Given the description of an element on the screen output the (x, y) to click on. 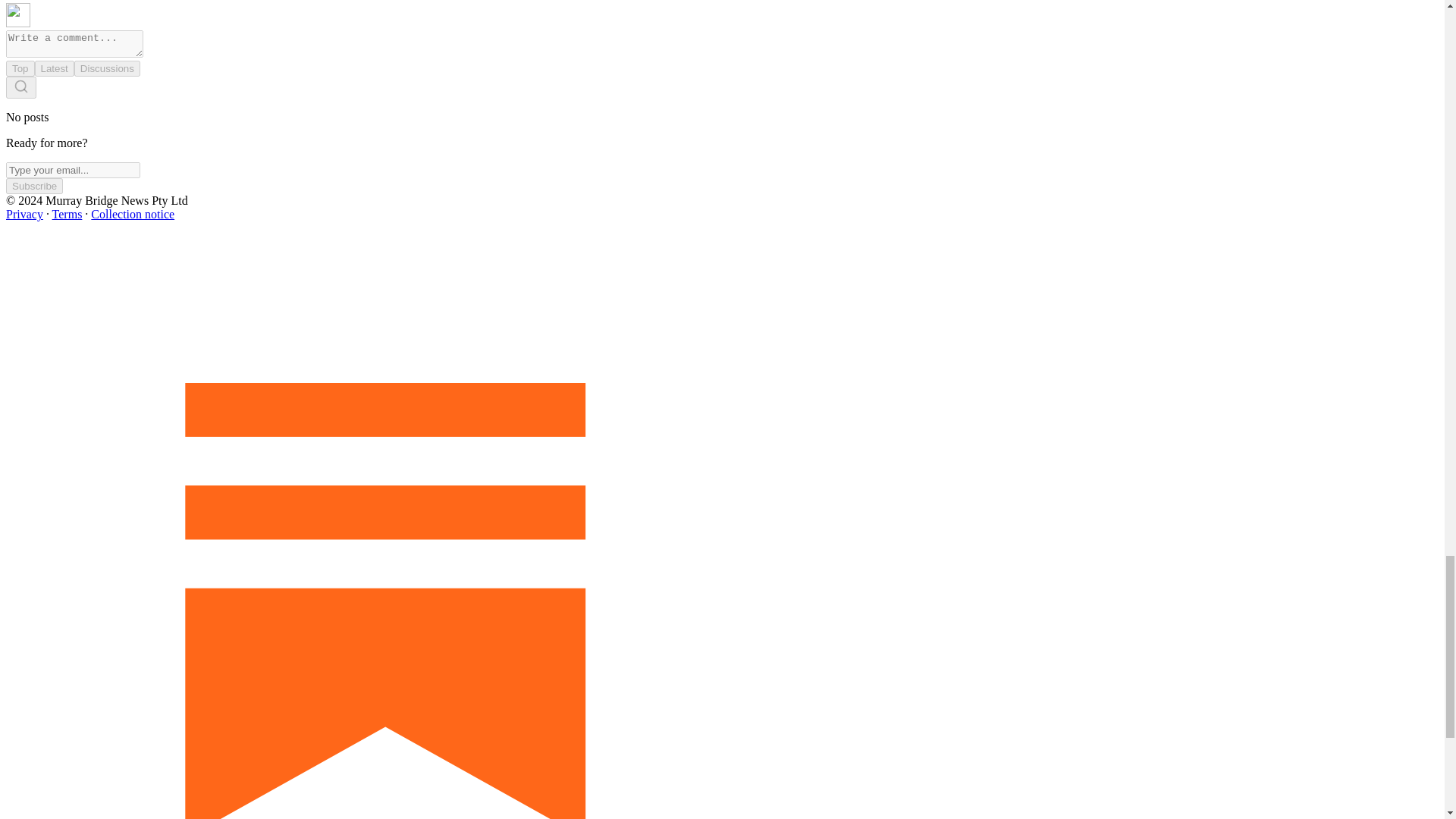
Discussions (106, 68)
Top (19, 68)
Latest (54, 68)
